Given the description of an element on the screen output the (x, y) to click on. 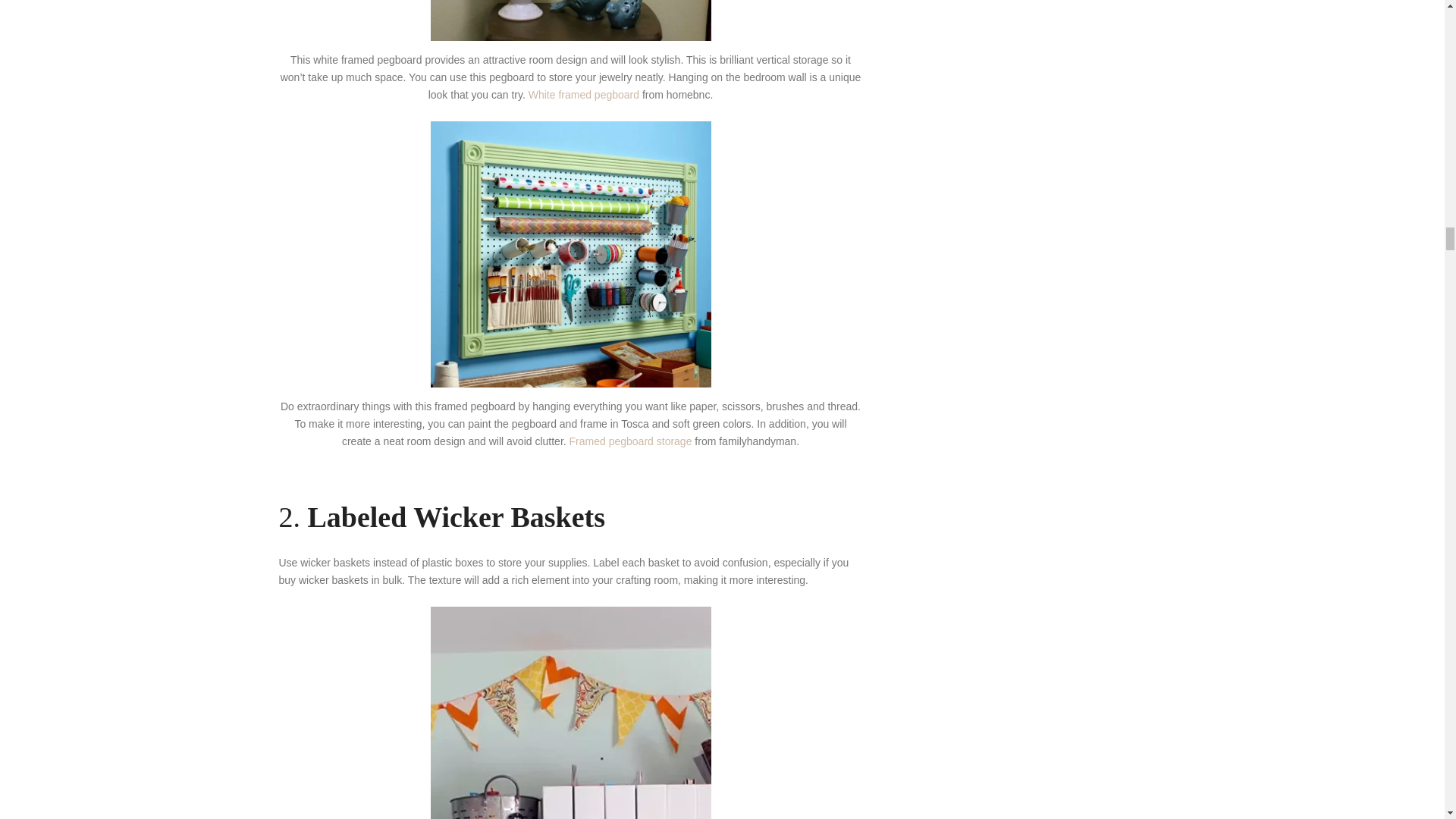
White framed pegboard (585, 94)
Framed pegboard storage (631, 440)
